Given the description of an element on the screen output the (x, y) to click on. 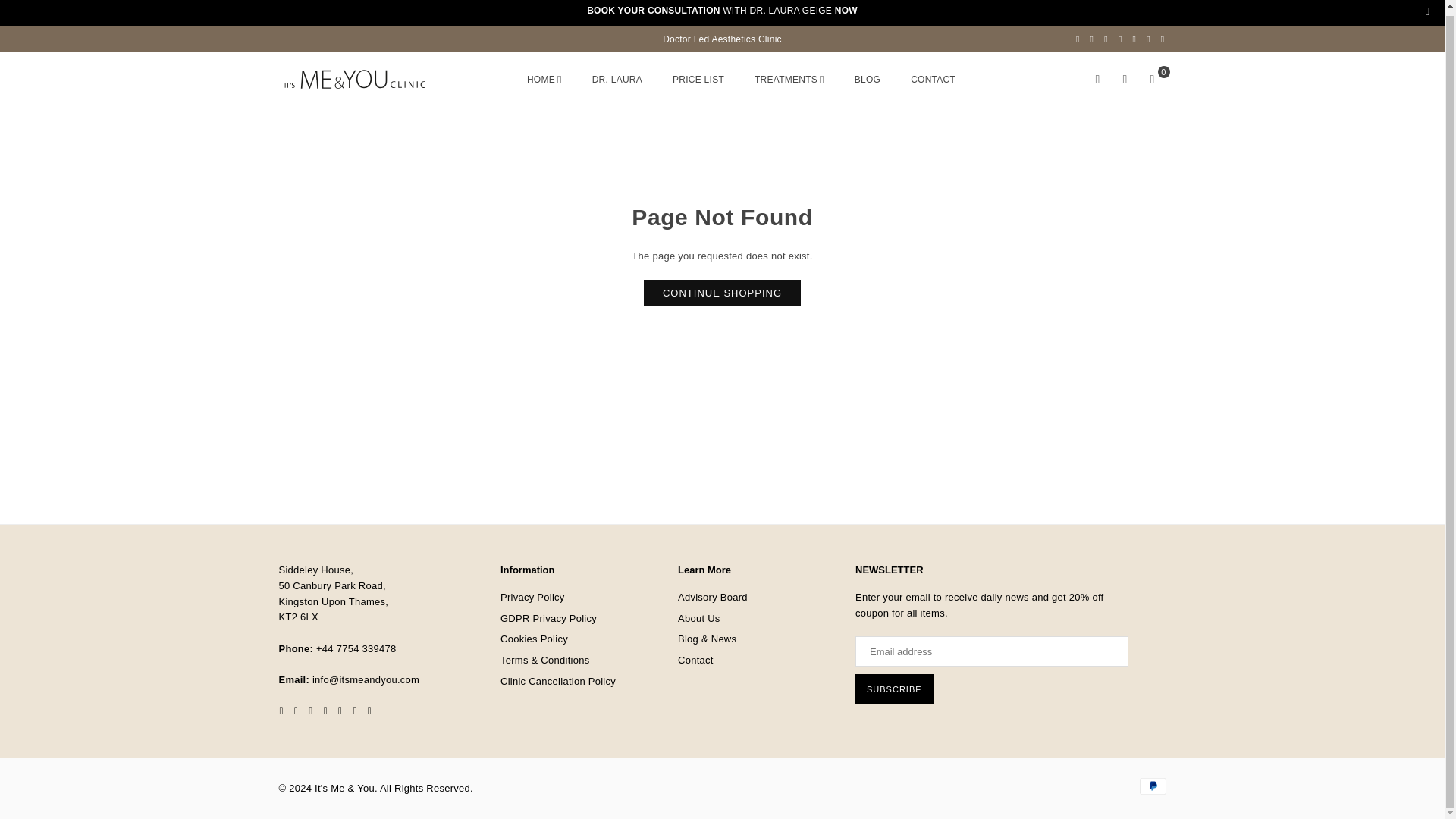
DR. LAURA (616, 79)
Cart (1152, 79)
HOME (544, 79)
Twitter (1091, 39)
Wishlist (1125, 79)
Search (1098, 79)
TREATMENTS (788, 79)
Instagram (1119, 39)
Whatsapp (1163, 39)
BOOK YOUR CONSULTATION WITH DR. LAURA GEIGE NOW (721, 9)
